Given the description of an element on the screen output the (x, y) to click on. 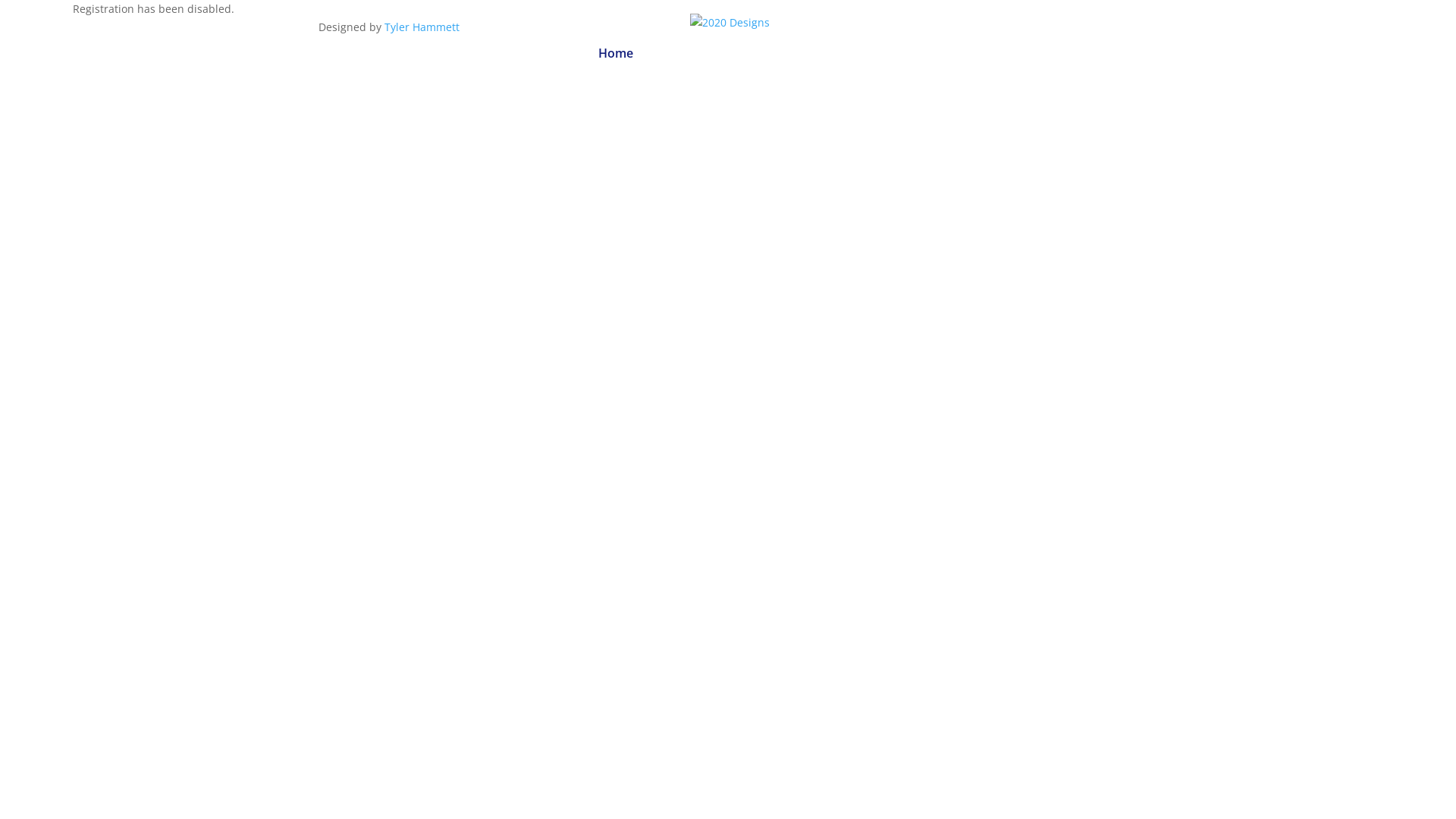
Themes Element type: text (789, 56)
Blog Element type: text (845, 56)
Tyler Hammett Element type: text (421, 26)
About Element type: text (669, 56)
Pricing Element type: text (727, 56)
Home Element type: text (614, 56)
